Given the description of an element on the screen output the (x, y) to click on. 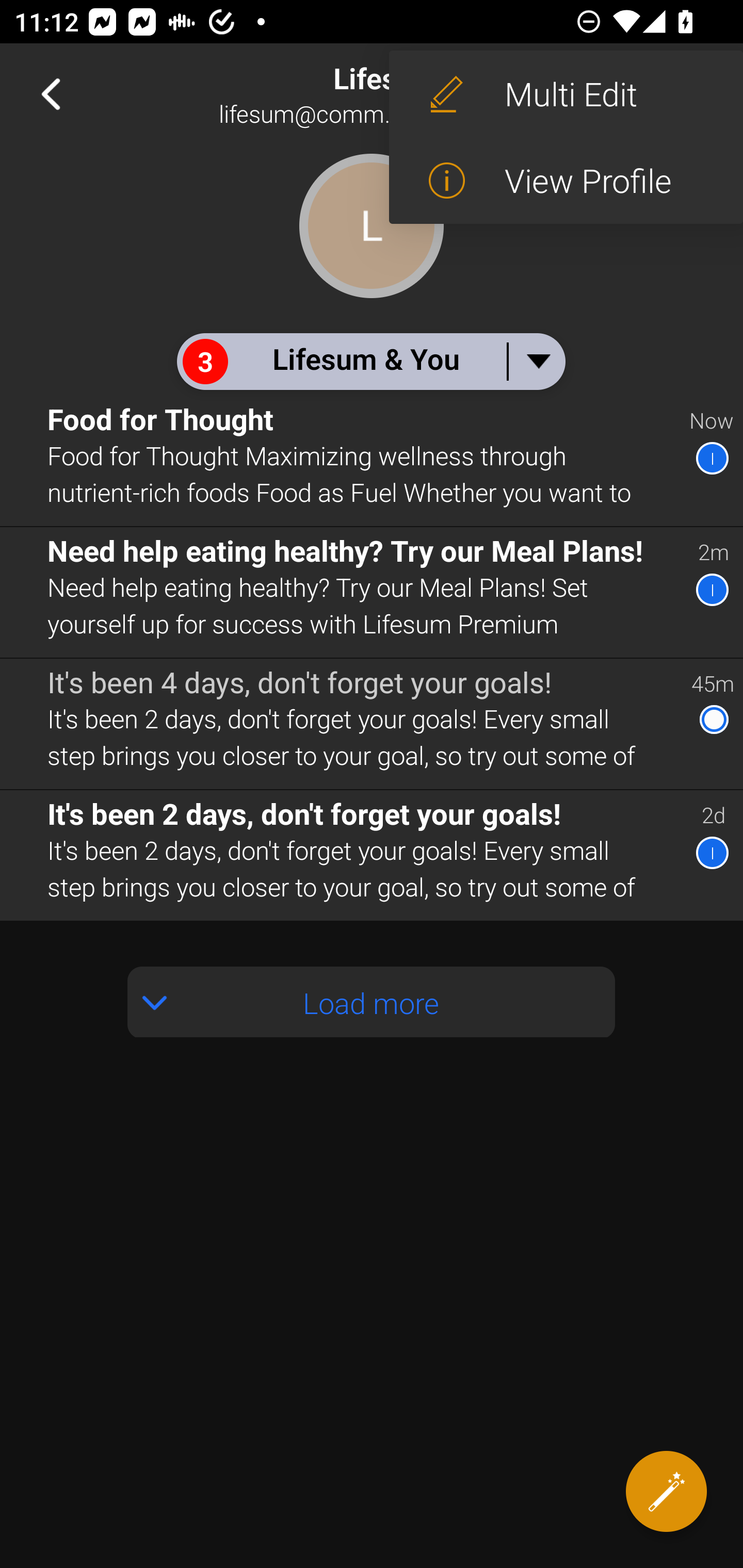
Multi Edit (566, 93)
View Profile (566, 180)
